Given the description of an element on the screen output the (x, y) to click on. 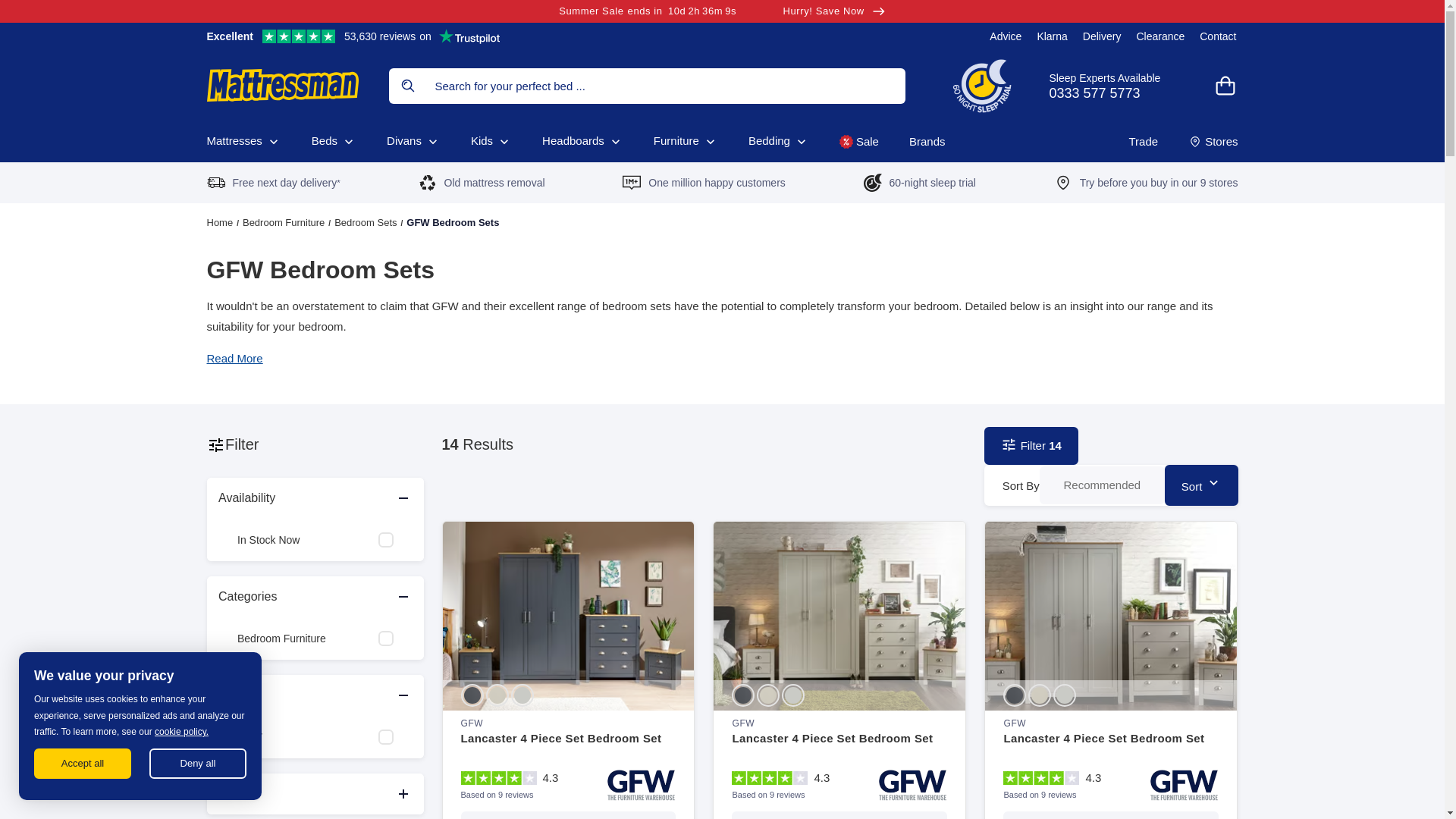
Clearance (1160, 36)
Klarna (1051, 36)
Delivery (1115, 85)
Advice (1102, 36)
Mattresses (722, 11)
Contact (1006, 36)
Sort By (243, 141)
